Given the description of an element on the screen output the (x, y) to click on. 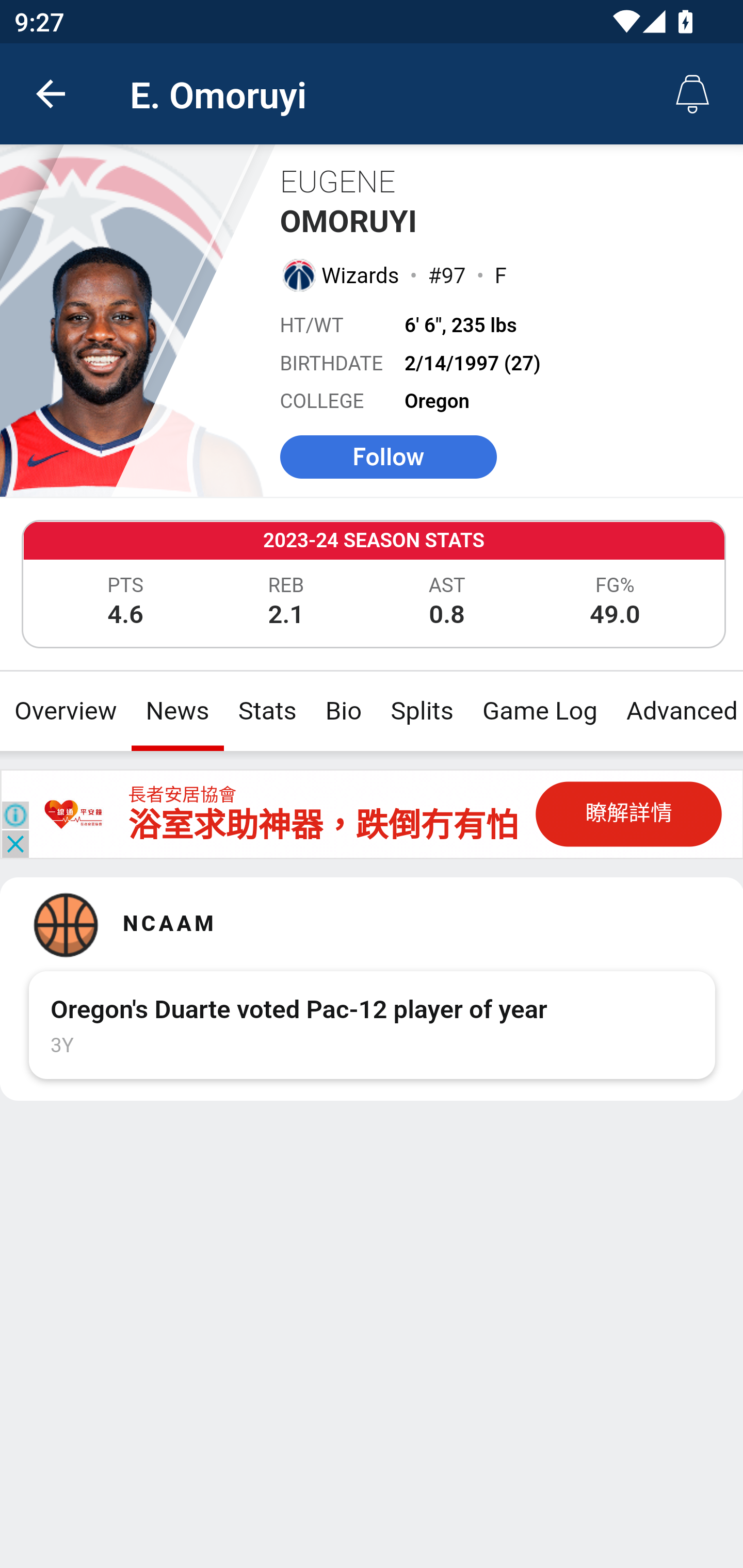
back.button (50, 93)
Alerts (692, 93)
Washington Wizards (297, 274)
Wizards (361, 274)
Oregon (436, 401)
Follow (387, 455)
Overview (65, 711)
News (177, 711)
Stats (267, 711)
Bio (343, 711)
Splits (422, 711)
Game Log (538, 711)
Advanced Stats (676, 711)
瞭解詳情 (628, 813)
長者安居協會 (182, 794)
浴室求助神器，跌倒冇有怕 (323, 825)
NCAAM (385, 925)
